Given the description of an element on the screen output the (x, y) to click on. 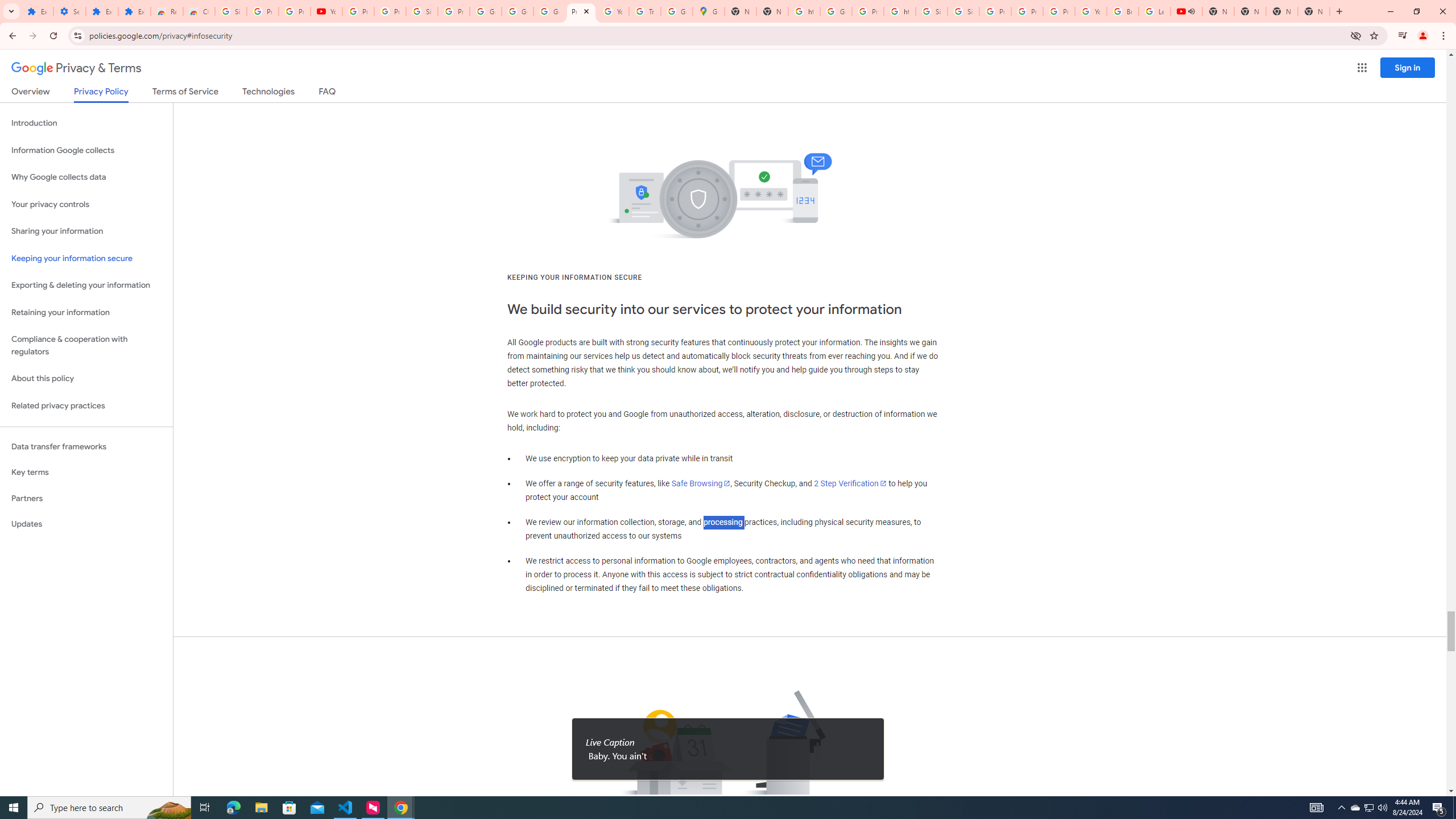
New Tab (1281, 11)
Sharing your information (86, 230)
Settings (69, 11)
Extensions (134, 11)
